Given the description of an element on the screen output the (x, y) to click on. 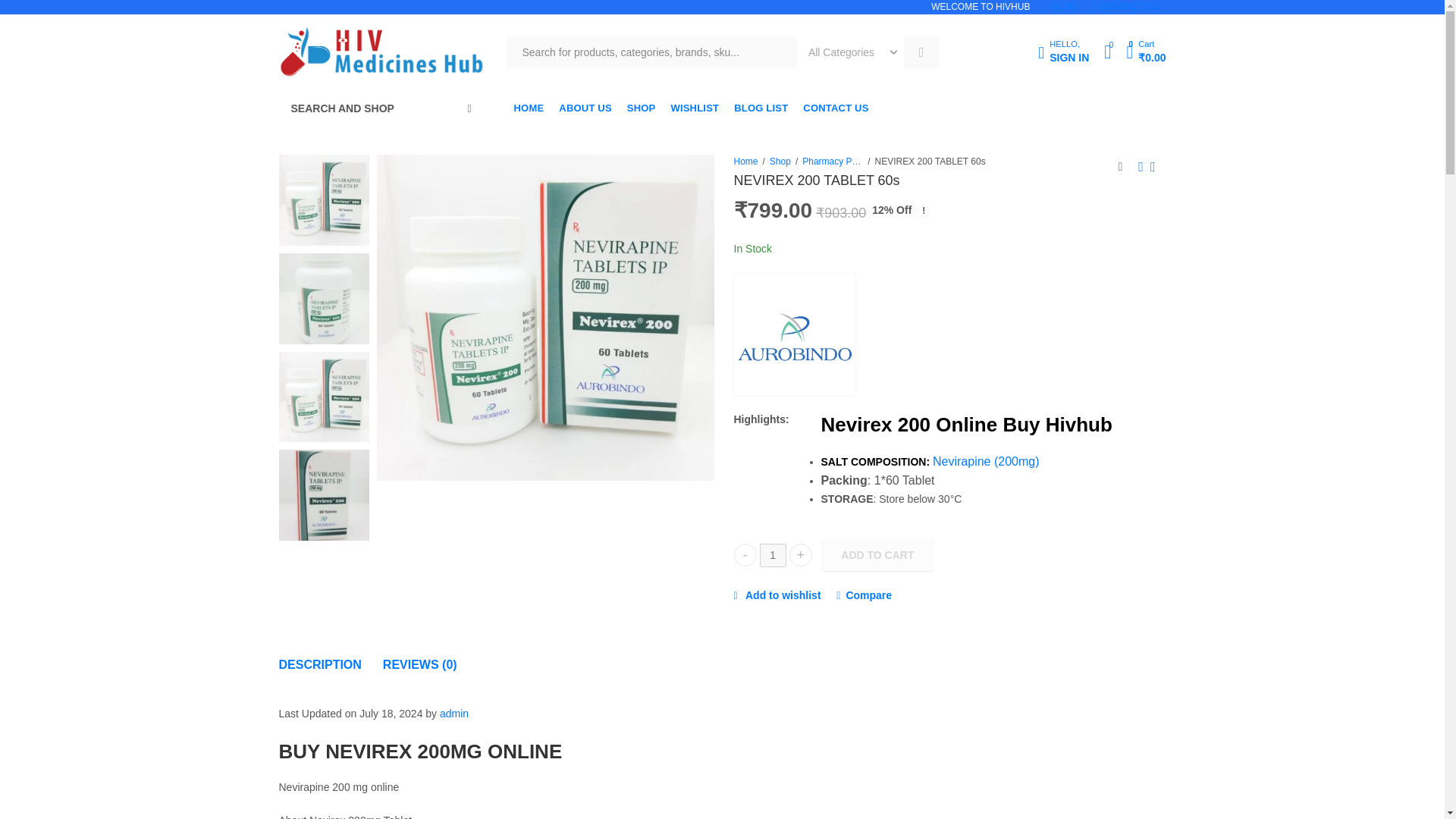
nevirex hivhub (545, 317)
SEARCH (921, 52)
SHOP (1063, 52)
ABOUT US (641, 108)
CONTACT US (585, 108)
Pharmacy Product (835, 108)
BLOG LIST (832, 161)
AUROBINDO (760, 108)
1 (794, 333)
